Given the description of an element on the screen output the (x, y) to click on. 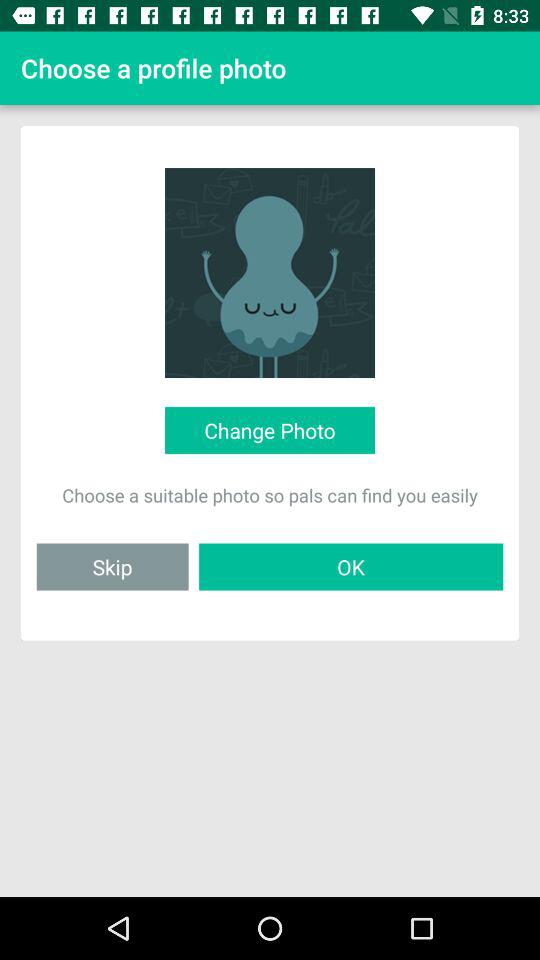
jump to skip (112, 566)
